Given the description of an element on the screen output the (x, y) to click on. 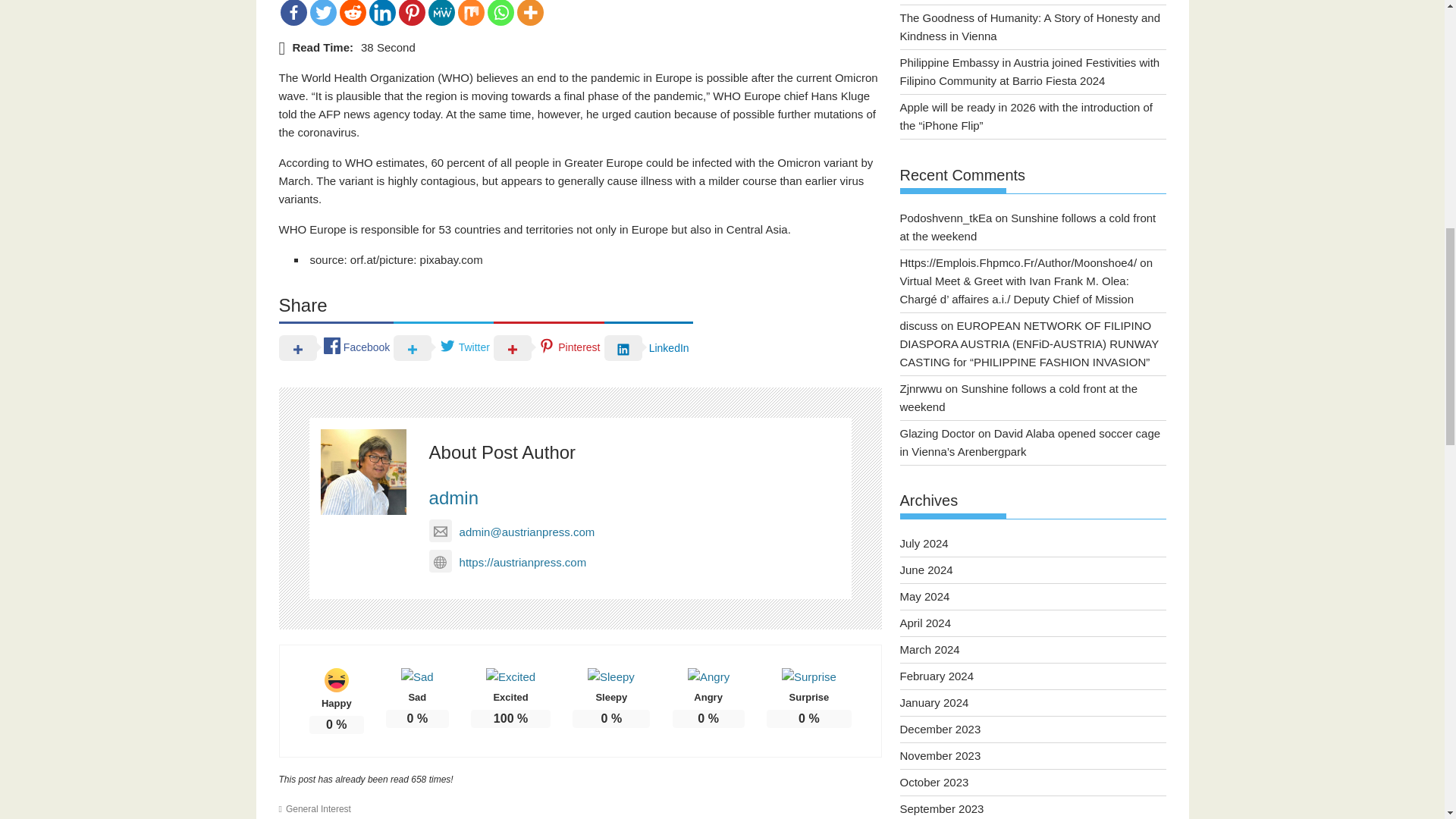
MeWe (441, 12)
admin (454, 497)
Facebook (336, 346)
Pinterest (548, 346)
Pinterest (411, 12)
Mix (471, 12)
Twitter (322, 12)
Whatsapp (499, 12)
Twitter (443, 346)
Reddit (352, 12)
Facebook (294, 12)
Linkedin (381, 12)
LinkedIn (648, 346)
